Given the description of an element on the screen output the (x, y) to click on. 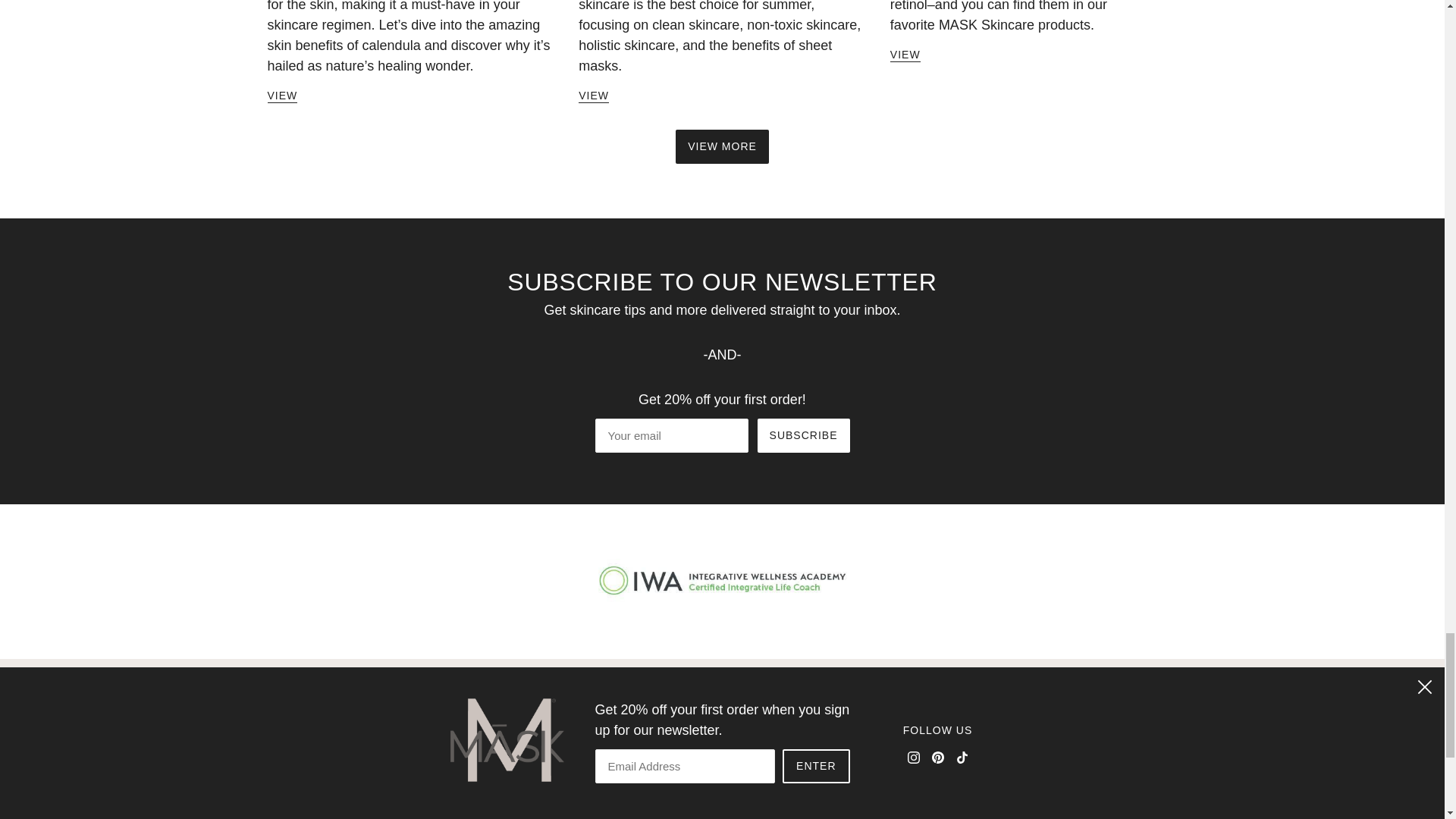
Privacy Policy (705, 802)
FAQs (679, 782)
Accessibility (699, 741)
Ambassadors (703, 761)
Refund Policy (704, 817)
